Given the description of an element on the screen output the (x, y) to click on. 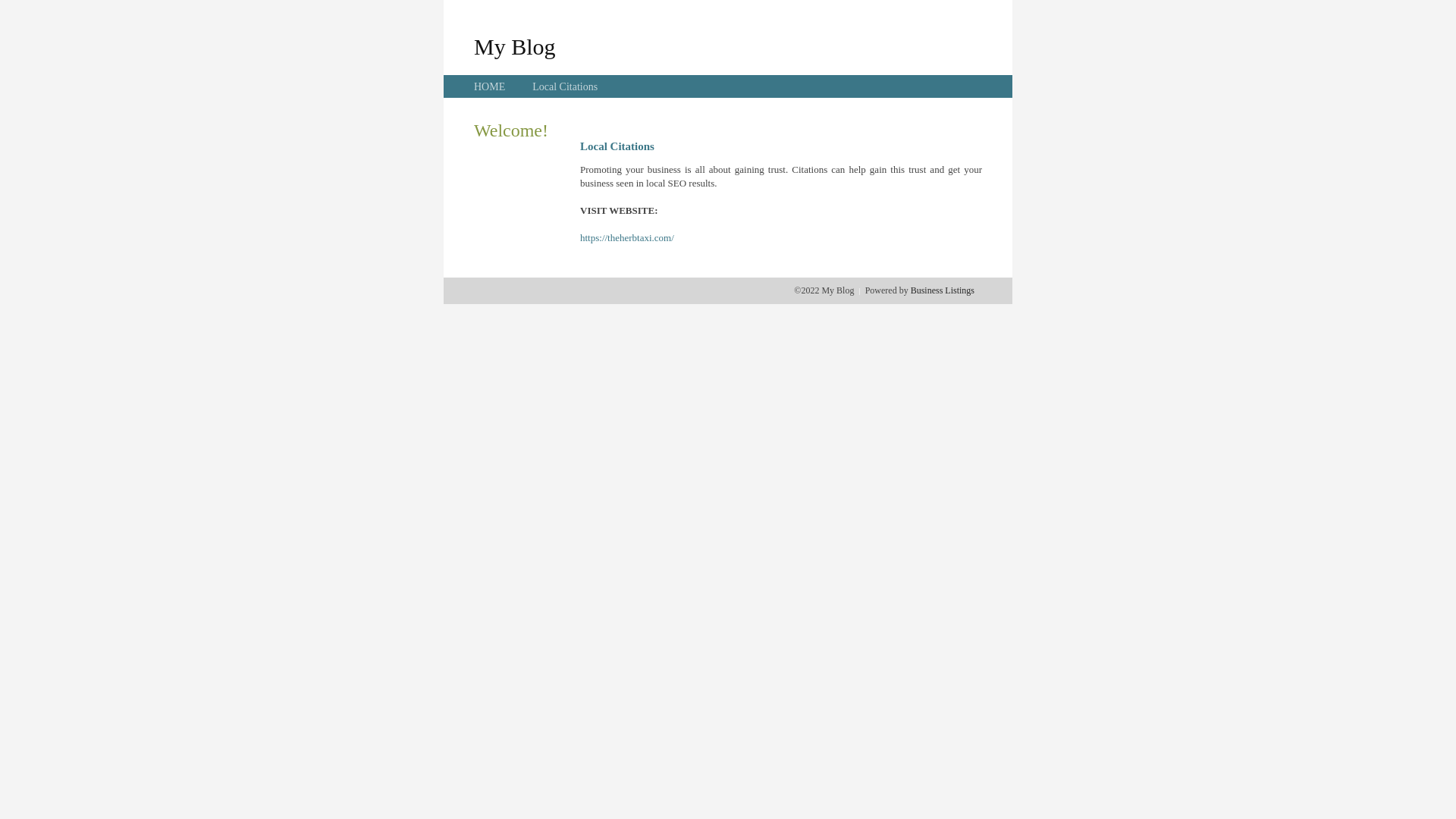
Business Listings Element type: text (942, 290)
Local Citations Element type: text (564, 86)
My Blog Element type: text (514, 46)
https://theherbtaxi.com/ Element type: text (627, 237)
HOME Element type: text (489, 86)
